Given the description of an element on the screen output the (x, y) to click on. 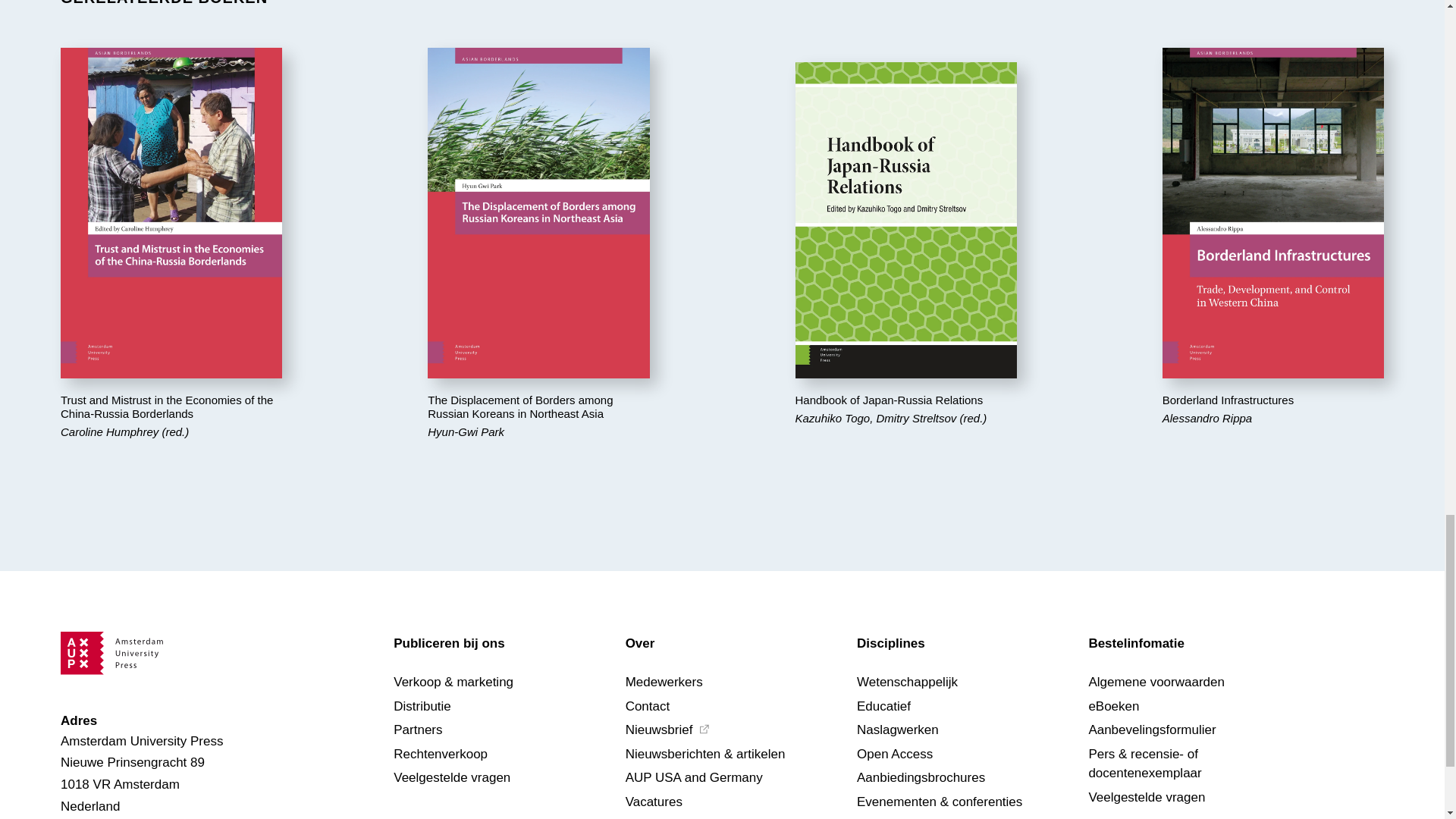
Nieuwsbrief (703, 728)
